Given the description of an element on the screen output the (x, y) to click on. 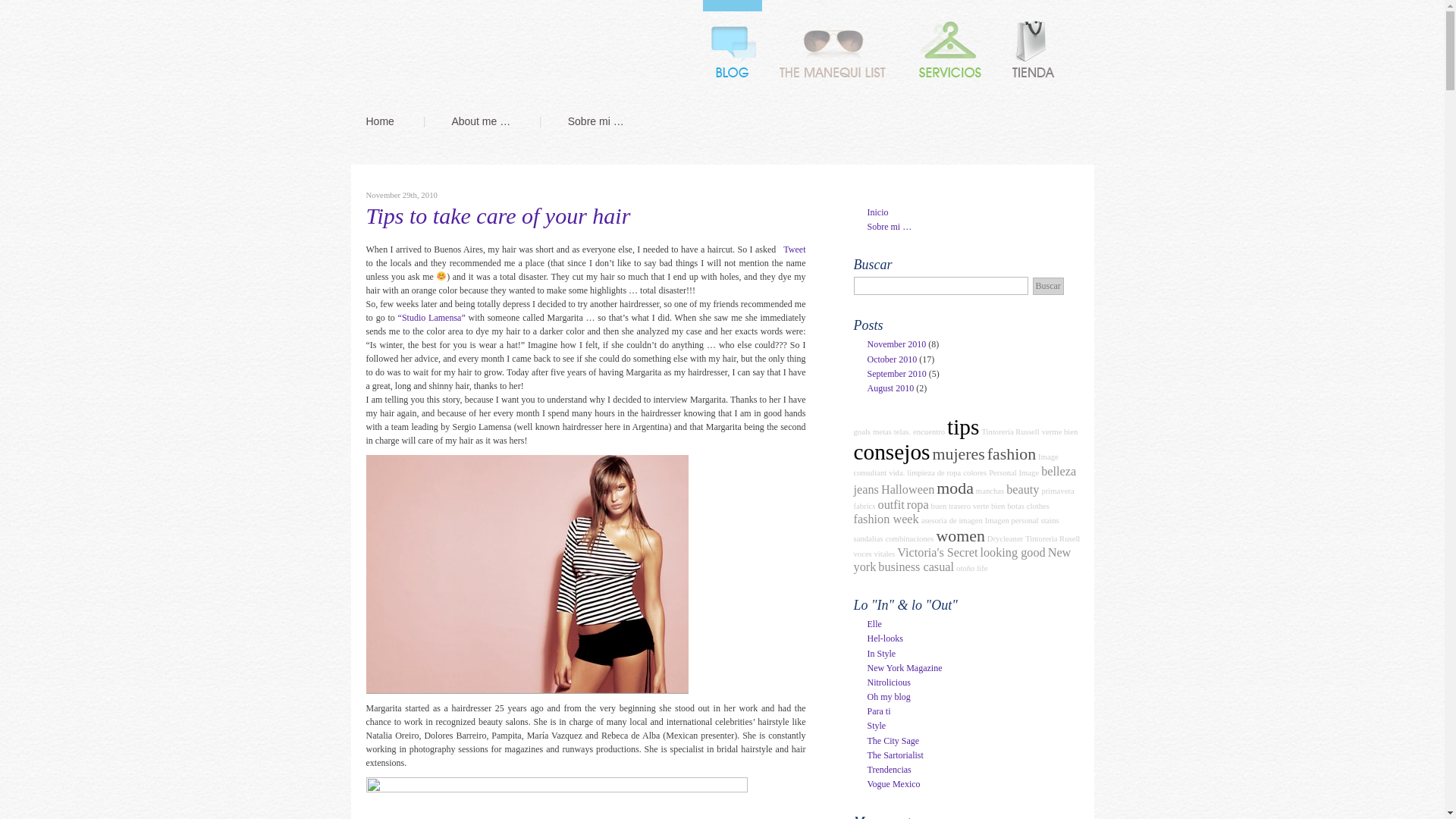
Tienda (1032, 48)
Blog (732, 48)
Servicios (949, 48)
Buscar (1048, 285)
- (457, 50)
Picture 89 (555, 798)
Tips to take care of your hair (497, 215)
 -  (457, 50)
Tweet (794, 249)
Picture 78 (526, 574)
Proximamente... (833, 48)
